Given the description of an element on the screen output the (x, y) to click on. 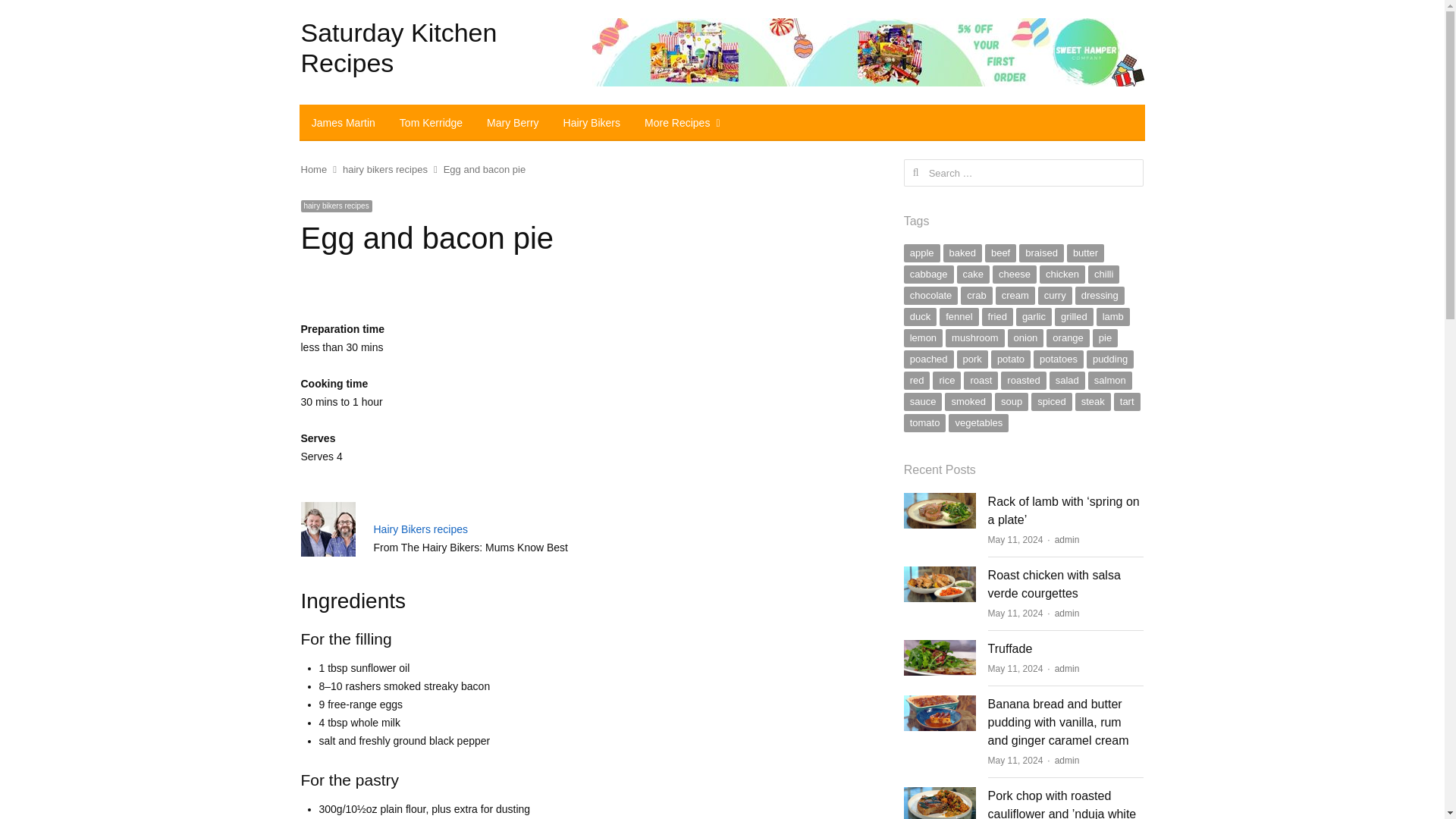
Roast chicken with salsa verde courgettes (1054, 583)
Mary Berry (512, 122)
Tom Kerridge (430, 122)
Home (312, 169)
More Recipes (679, 122)
hairy bikers recipes (335, 205)
James Martin (343, 122)
Hairy Bikers (591, 122)
Truffade (1010, 648)
Saturday Kitchen Recipes (397, 47)
Saturday Kitchen Recipes (397, 47)
Roast chicken with salsa verde courgettes (939, 573)
hairy bikers recipes (385, 169)
